Given the description of an element on the screen output the (x, y) to click on. 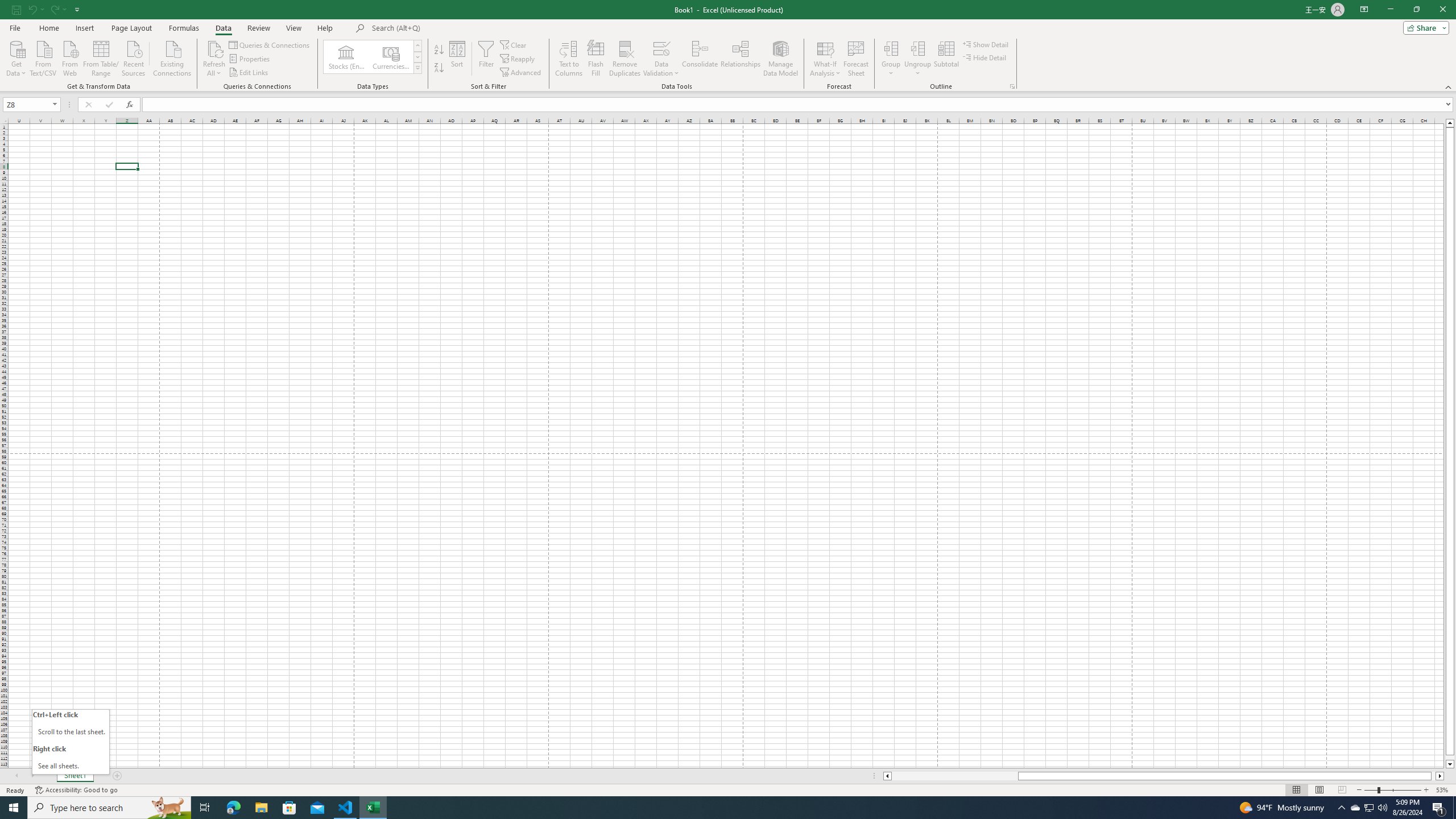
Advanced... (520, 72)
Clear (513, 44)
Page left (954, 775)
Group and Outline Settings (1011, 85)
From Table/Range (100, 57)
Manage Data Model (780, 58)
Data Types (417, 67)
Microsoft search (450, 28)
